Given the description of an element on the screen output the (x, y) to click on. 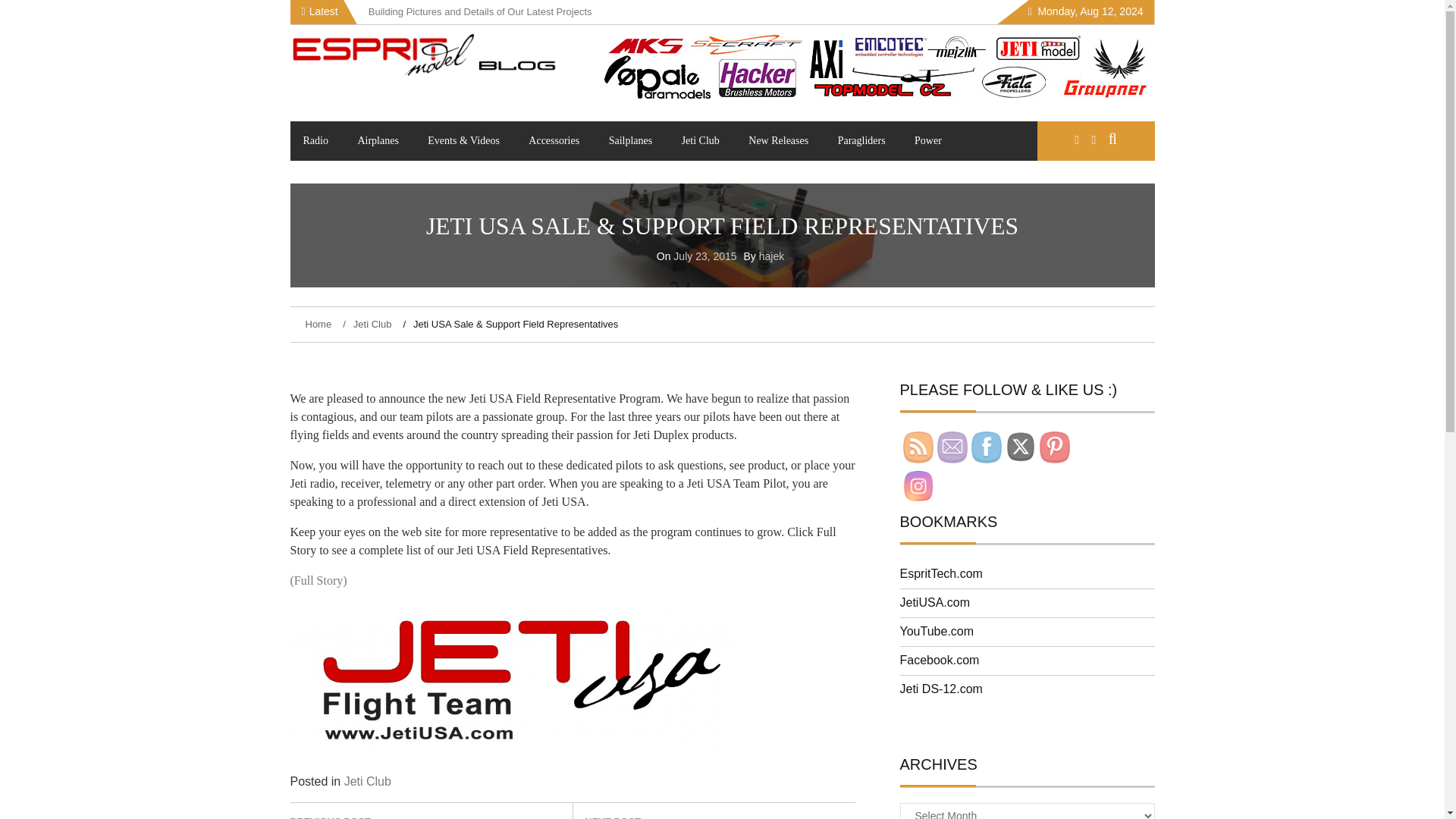
Jeti Club (367, 780)
July 23, 2015 (704, 256)
Building Pictures and Details of Our Latest Projects  (481, 11)
Home (319, 324)
Follow by Email (952, 447)
Jeti Club (700, 140)
Facebook (986, 447)
RSS (917, 447)
EM Blog (335, 107)
Sailplanes (630, 140)
